Given the description of an element on the screen output the (x, y) to click on. 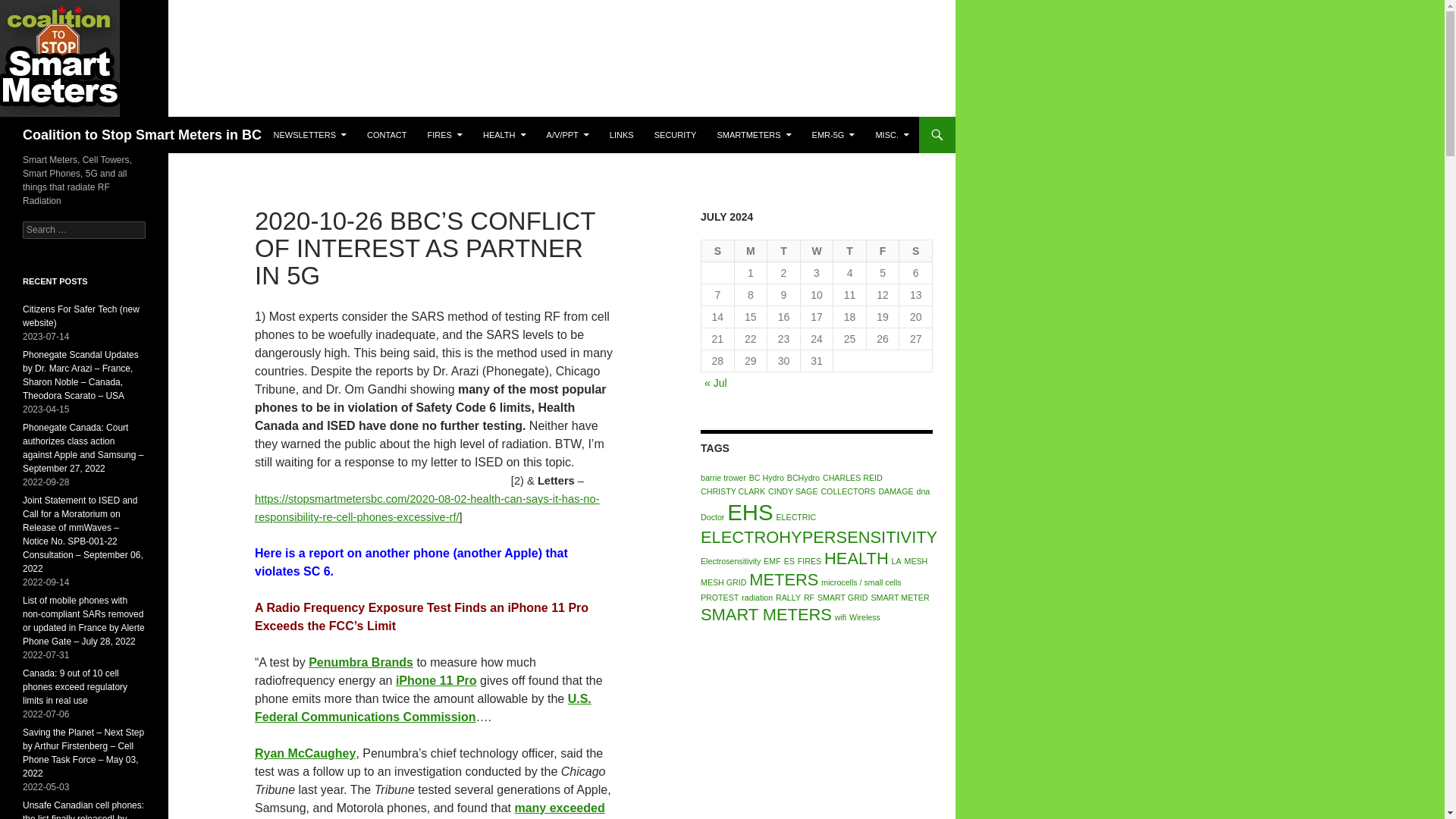
Wednesday (817, 251)
Sunday (718, 251)
Thursday (849, 251)
Tuesday (783, 251)
Friday (882, 251)
Monday (751, 251)
NEWSLETTERS (309, 135)
Saturday (916, 251)
Coalition to Stop Smart Meters in BC (142, 135)
